Given the description of an element on the screen output the (x, y) to click on. 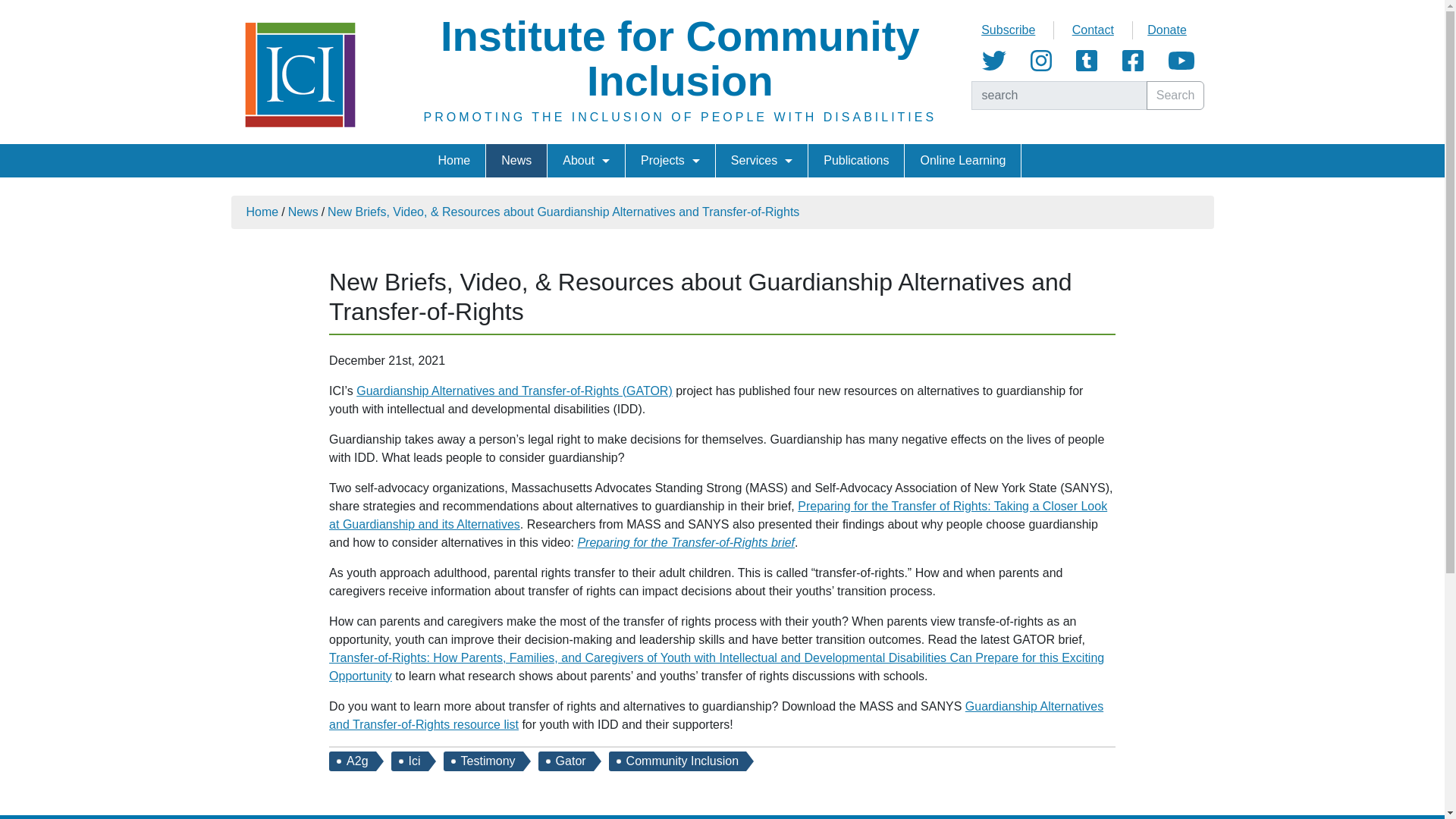
Contact (1092, 29)
Contact (1092, 29)
Home (454, 160)
Donate (1166, 29)
Subscribe (1008, 29)
Subscribe (1008, 29)
Home (299, 74)
News (516, 160)
Donate (1166, 29)
Search (1176, 95)
